Given the description of an element on the screen output the (x, y) to click on. 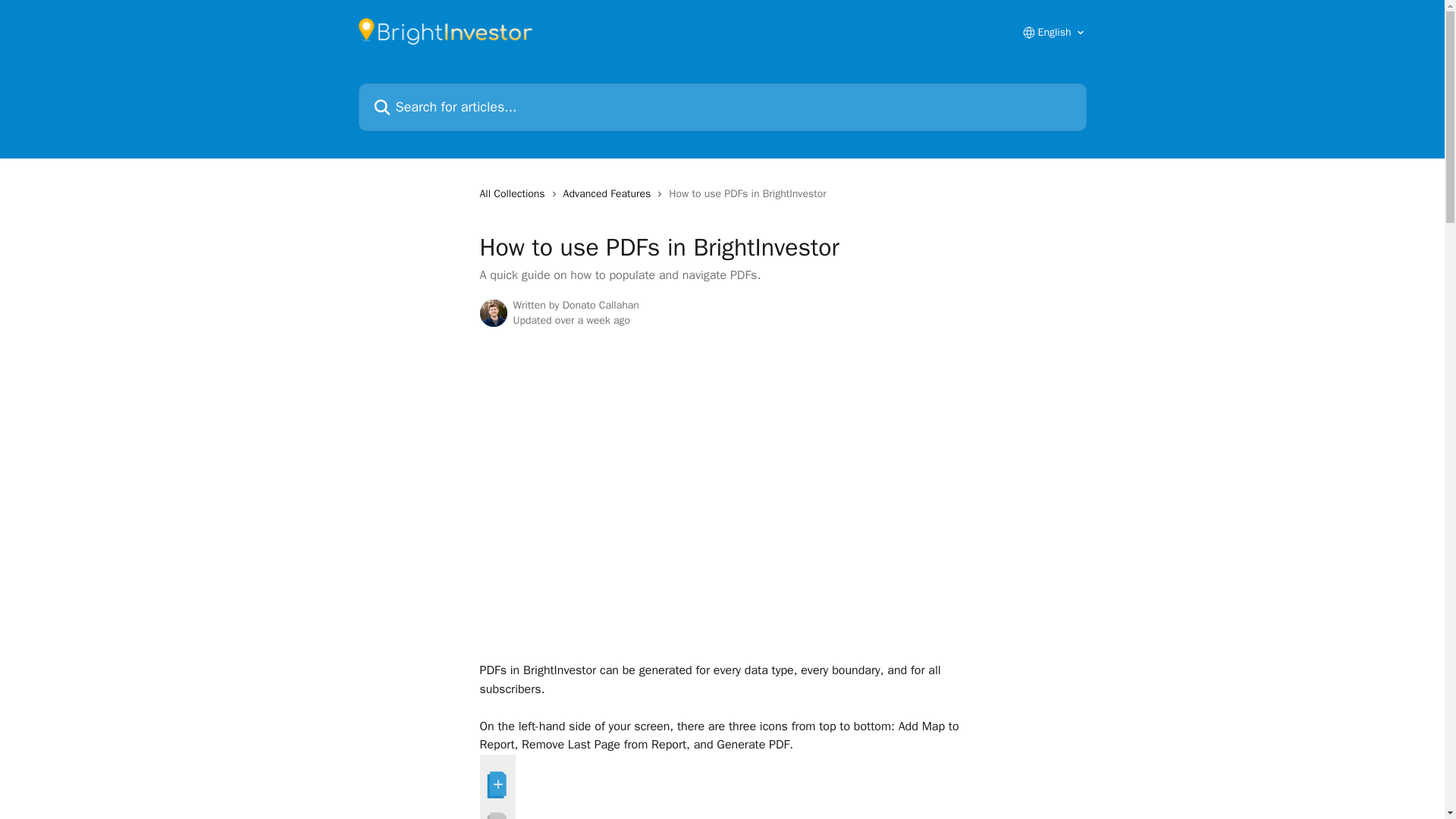
All Collections (514, 193)
Advanced Features (610, 193)
